Given the description of an element on the screen output the (x, y) to click on. 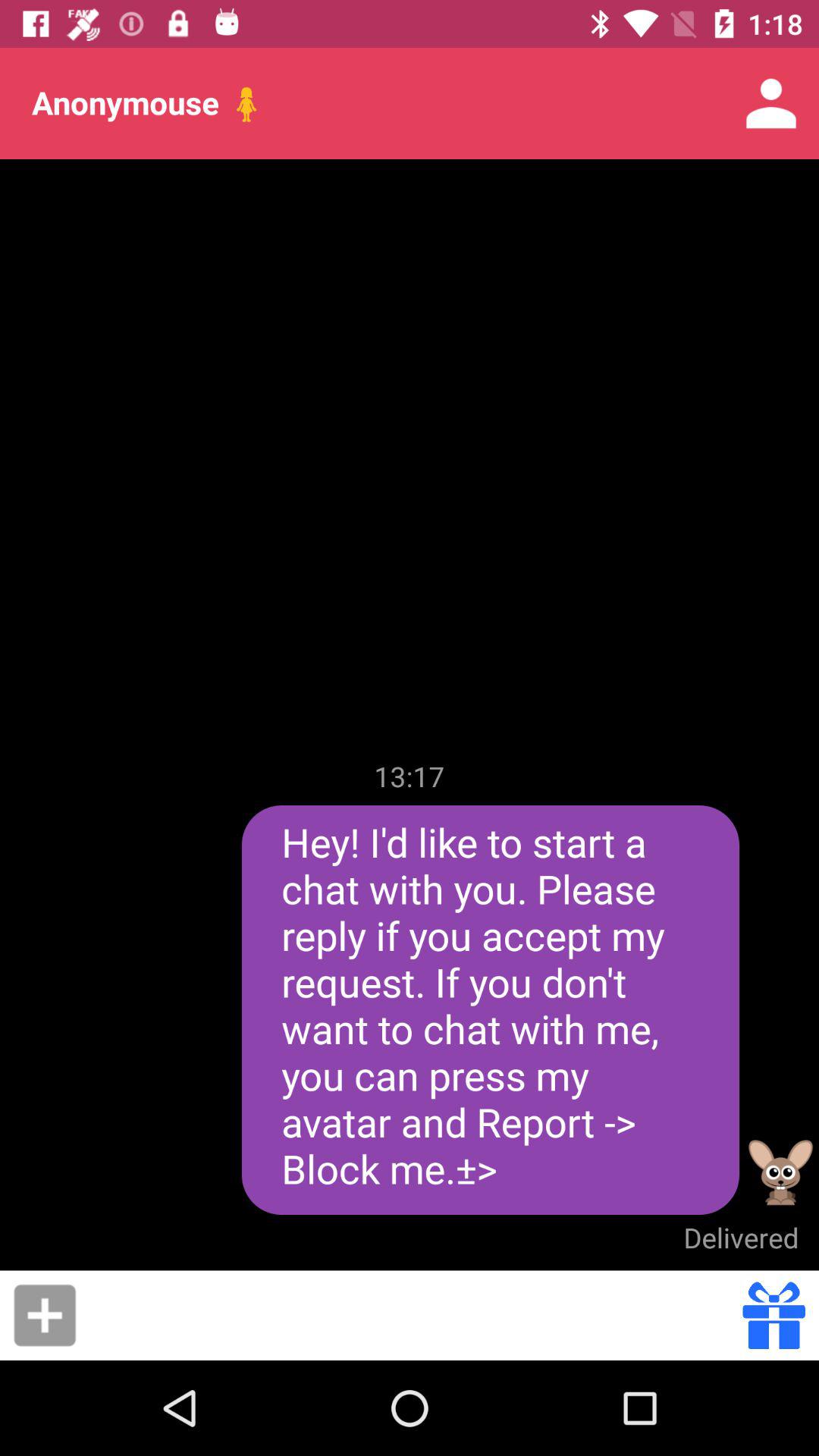
more options (44, 1315)
